Given the description of an element on the screen output the (x, y) to click on. 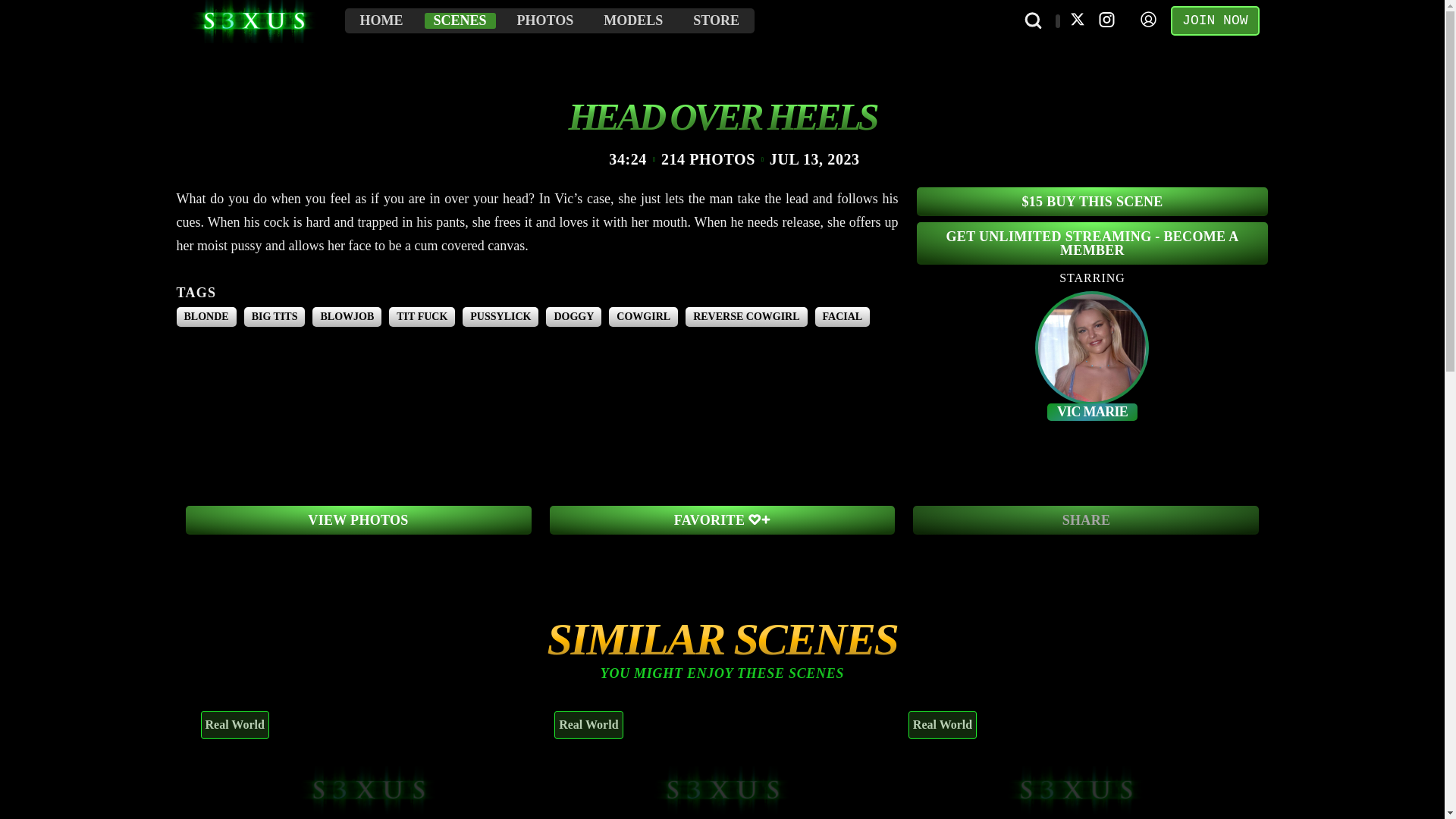
MODELS (633, 20)
BIG TITS (274, 316)
FAVORITE (721, 520)
COWGIRL (643, 316)
PUSSYLICK (500, 316)
REVERSE COWGIRL (745, 316)
FACIAL (842, 316)
BLONDE (205, 316)
SHARE (1085, 520)
JOIN NOW (1214, 20)
